Given the description of an element on the screen output the (x, y) to click on. 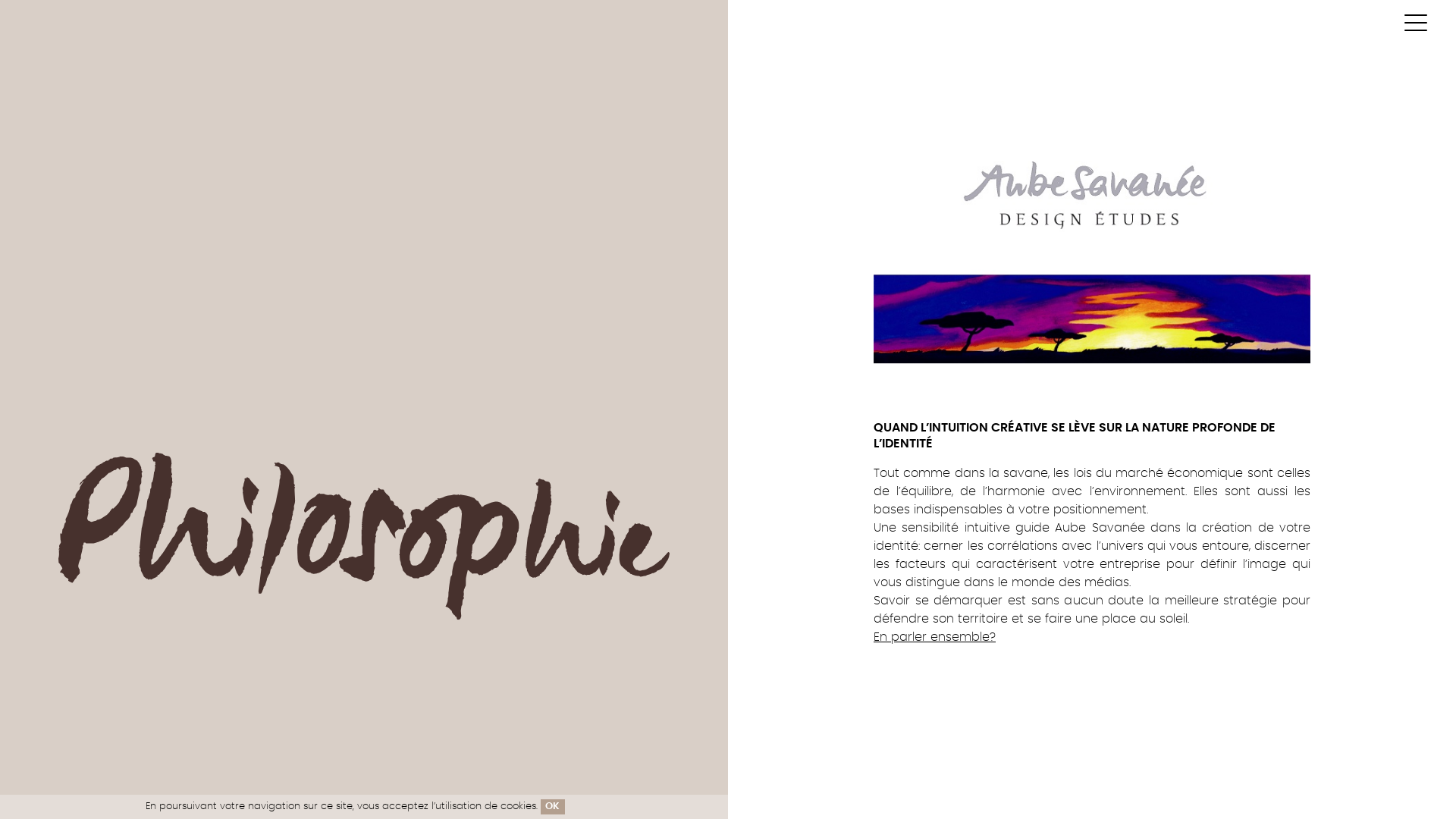
En parler ensemble? Element type: text (934, 636)
OK Element type: text (552, 806)
